Given the description of an element on the screen output the (x, y) to click on. 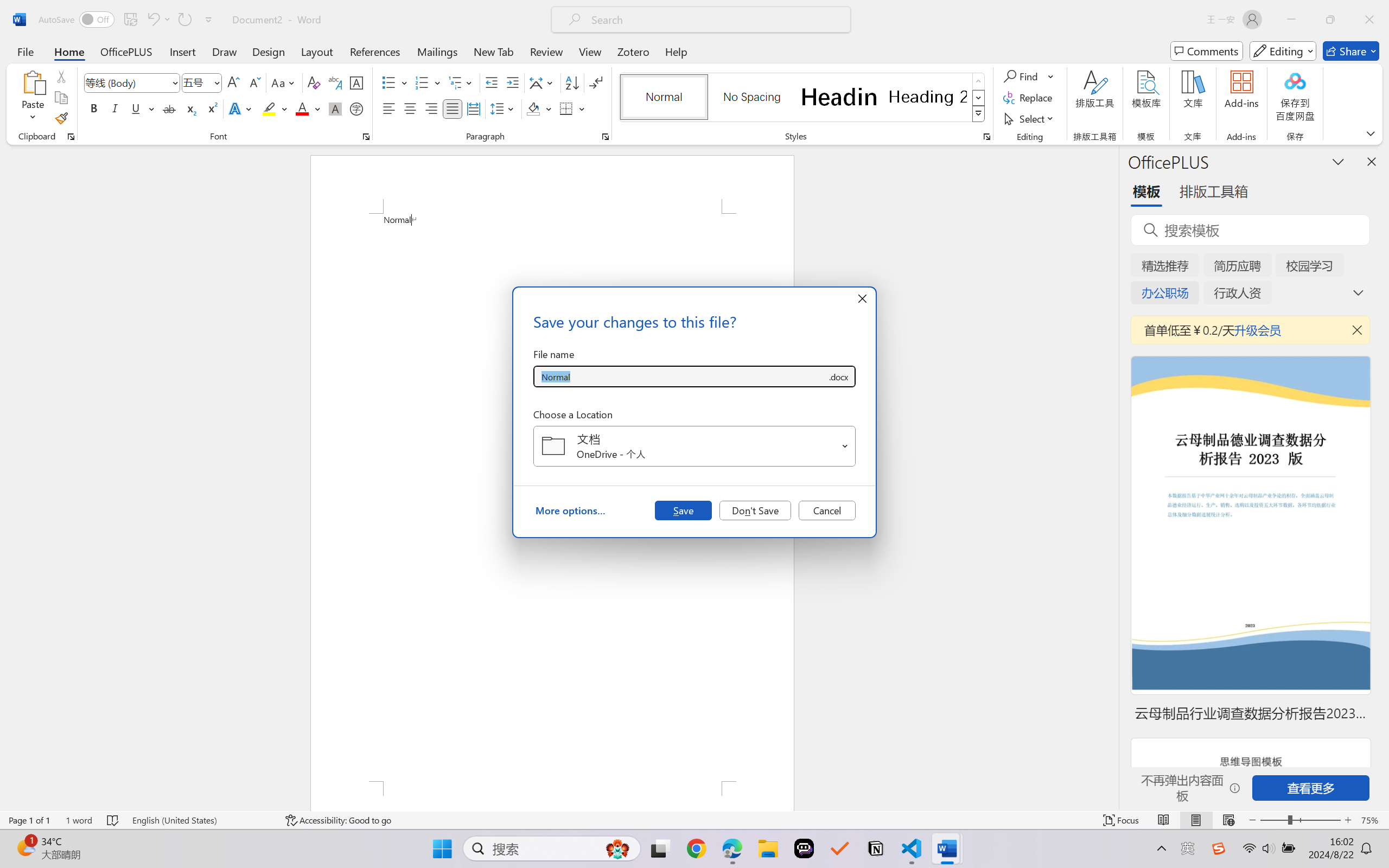
Enclose Characters... (356, 108)
Text Effects and Typography (241, 108)
Font (126, 82)
Design (268, 51)
Shading (539, 108)
Clear Formatting (313, 82)
Justify (452, 108)
Customize Quick Access Toolbar (208, 19)
Minimize (1291, 19)
Text Highlight Color (274, 108)
Font... (365, 136)
